Given the description of an element on the screen output the (x, y) to click on. 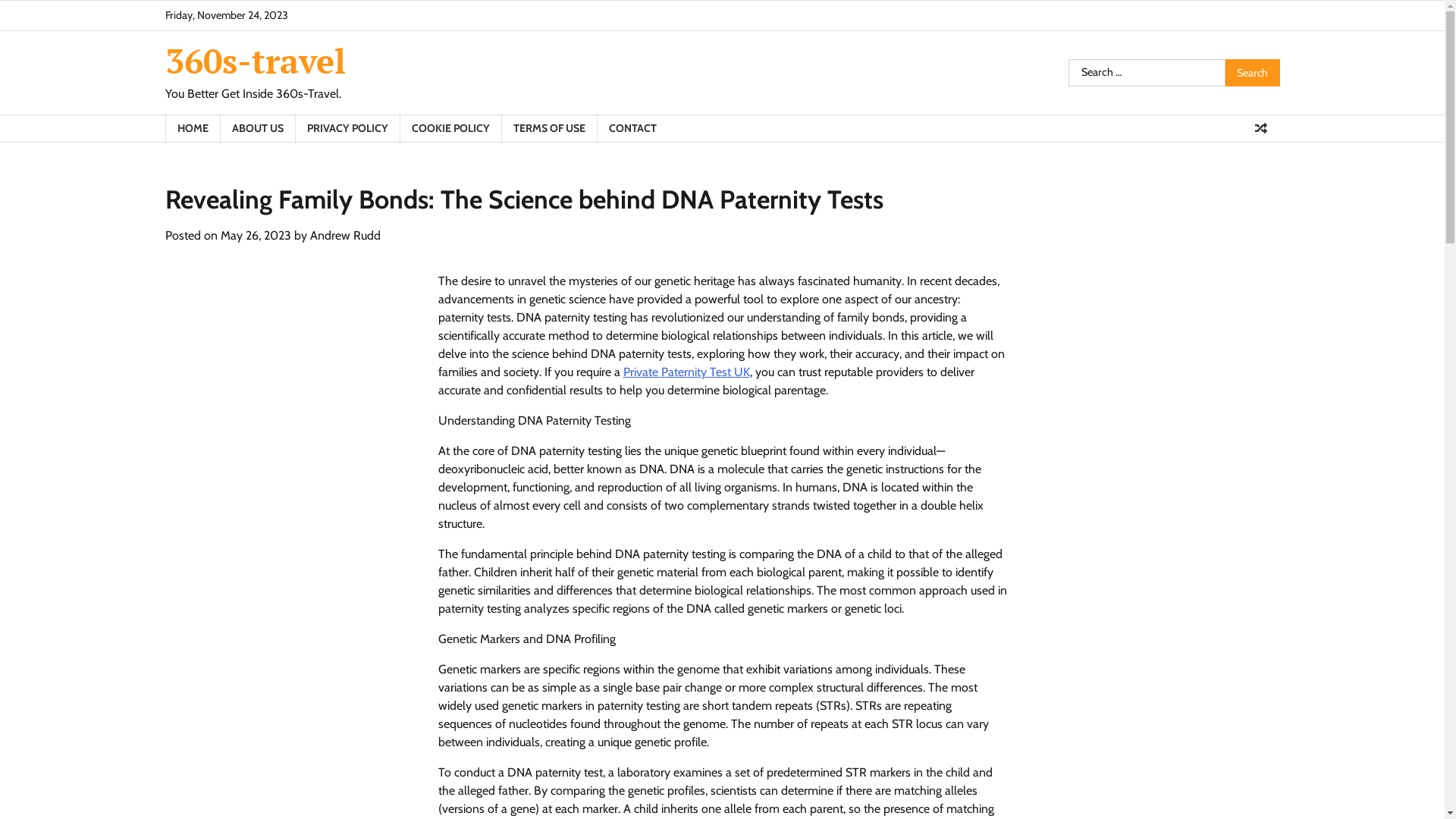
CONTACT Element type: text (631, 128)
PRIVACY POLICY Element type: text (346, 128)
Search Element type: text (1252, 72)
ABOUT US Element type: text (256, 128)
360s-travel Element type: text (255, 60)
COOKIE POLICY Element type: text (449, 128)
May 26, 2023 Element type: text (254, 235)
Andrew Rudd Element type: text (344, 235)
Private Paternity Test UK Element type: text (686, 371)
View Random Post Element type: hover (1260, 127)
HOME Element type: text (192, 128)
TERMS OF USE Element type: text (548, 128)
